Given the description of an element on the screen output the (x, y) to click on. 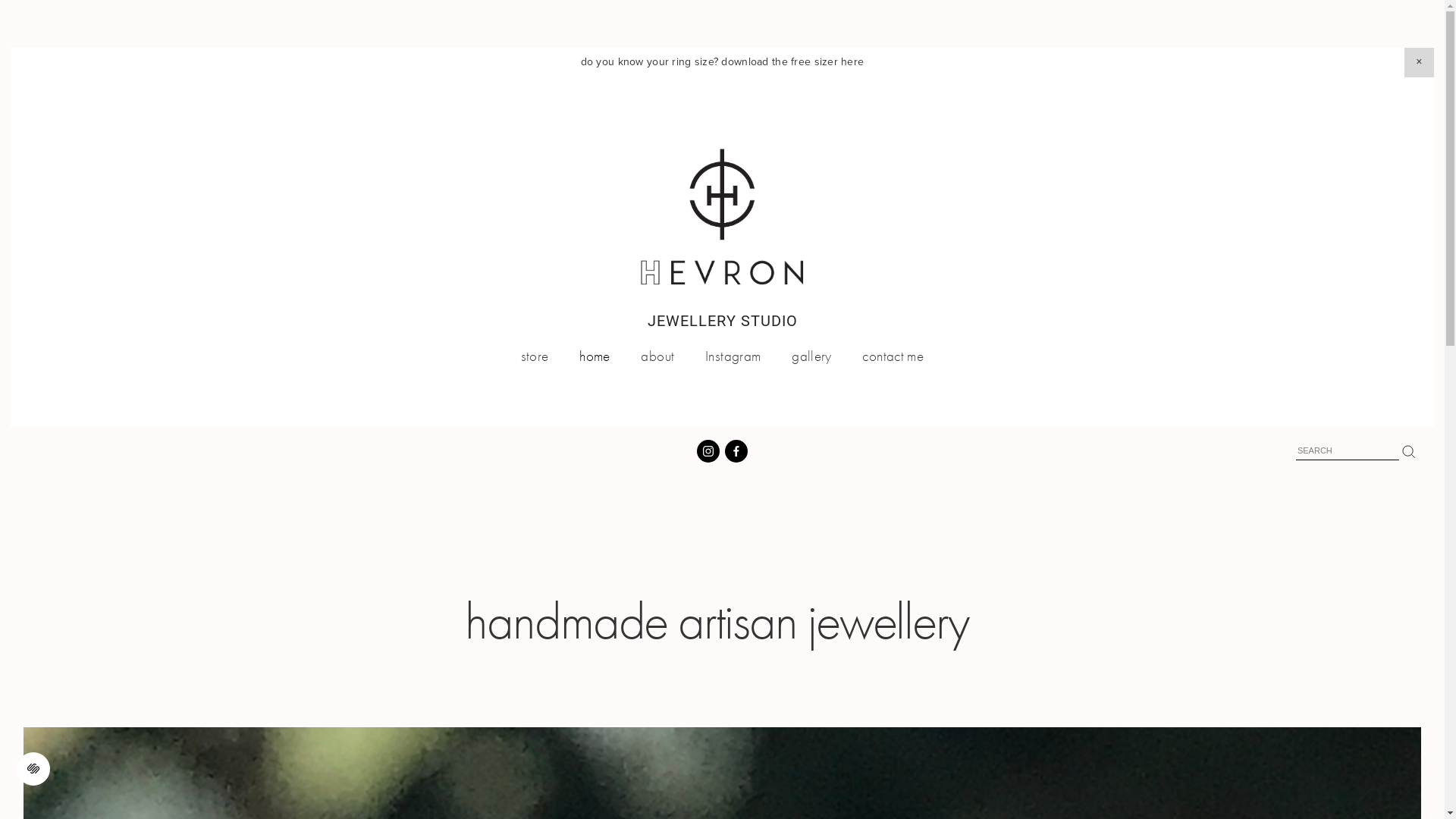
home Element type: text (594, 356)
about Element type: text (657, 356)
contact me Element type: text (892, 356)
store Element type: text (534, 356)
Instagram Element type: text (732, 356)
gallery Element type: text (811, 356)
